Given the description of an element on the screen output the (x, y) to click on. 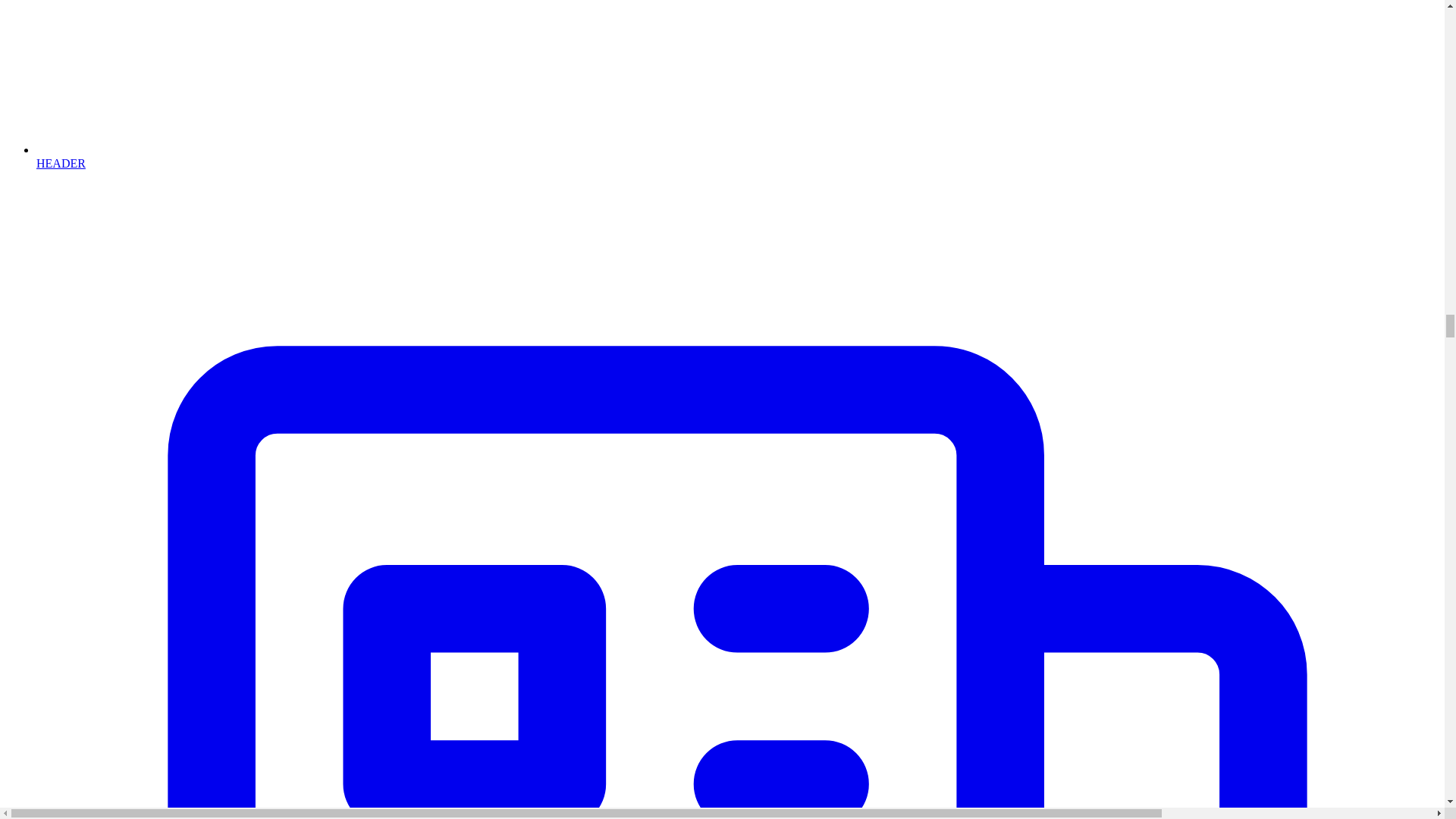
HEADER (737, 156)
